Given the description of an element on the screen output the (x, y) to click on. 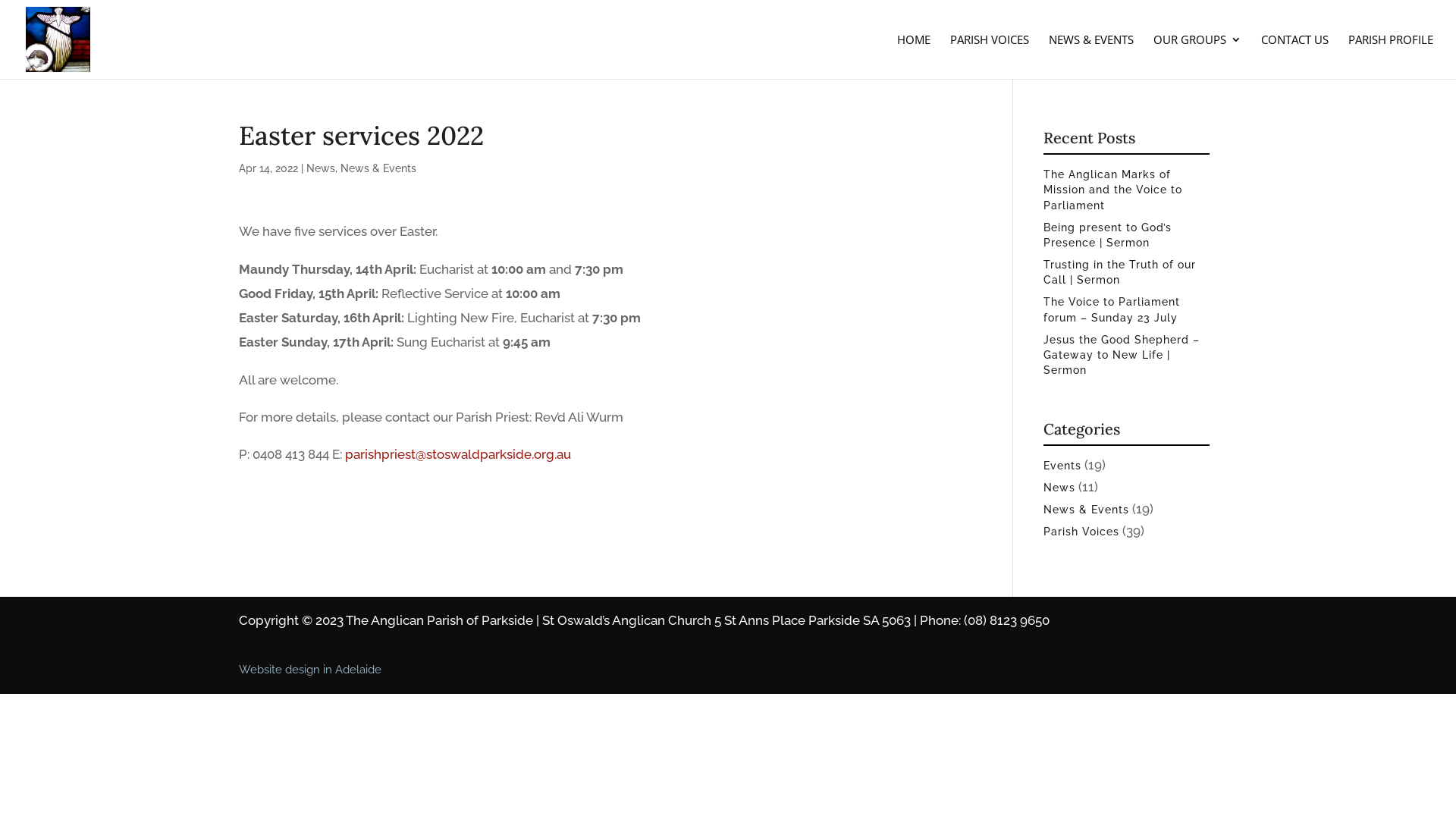
Parish Voices Element type: text (1081, 531)
News Element type: text (1059, 487)
PARISH VOICES Element type: text (989, 56)
Trusting in the Truth of our Call | Sermon Element type: text (1119, 271)
The Anglican Marks of Mission and the Voice to Parliament Element type: text (1112, 189)
NEWS & EVENTS Element type: text (1090, 56)
Website design in Adelaide Element type: text (309, 669)
News & Events Element type: text (1086, 509)
parishpriest@stoswaldparkside.org.au Element type: text (458, 453)
News Element type: text (320, 168)
OUR GROUPS Element type: text (1197, 56)
CONTACT US Element type: text (1294, 56)
PARISH PROFILE Element type: text (1390, 56)
News & Events Element type: text (378, 168)
Events Element type: text (1062, 465)
HOME Element type: text (913, 56)
